Given the description of an element on the screen output the (x, y) to click on. 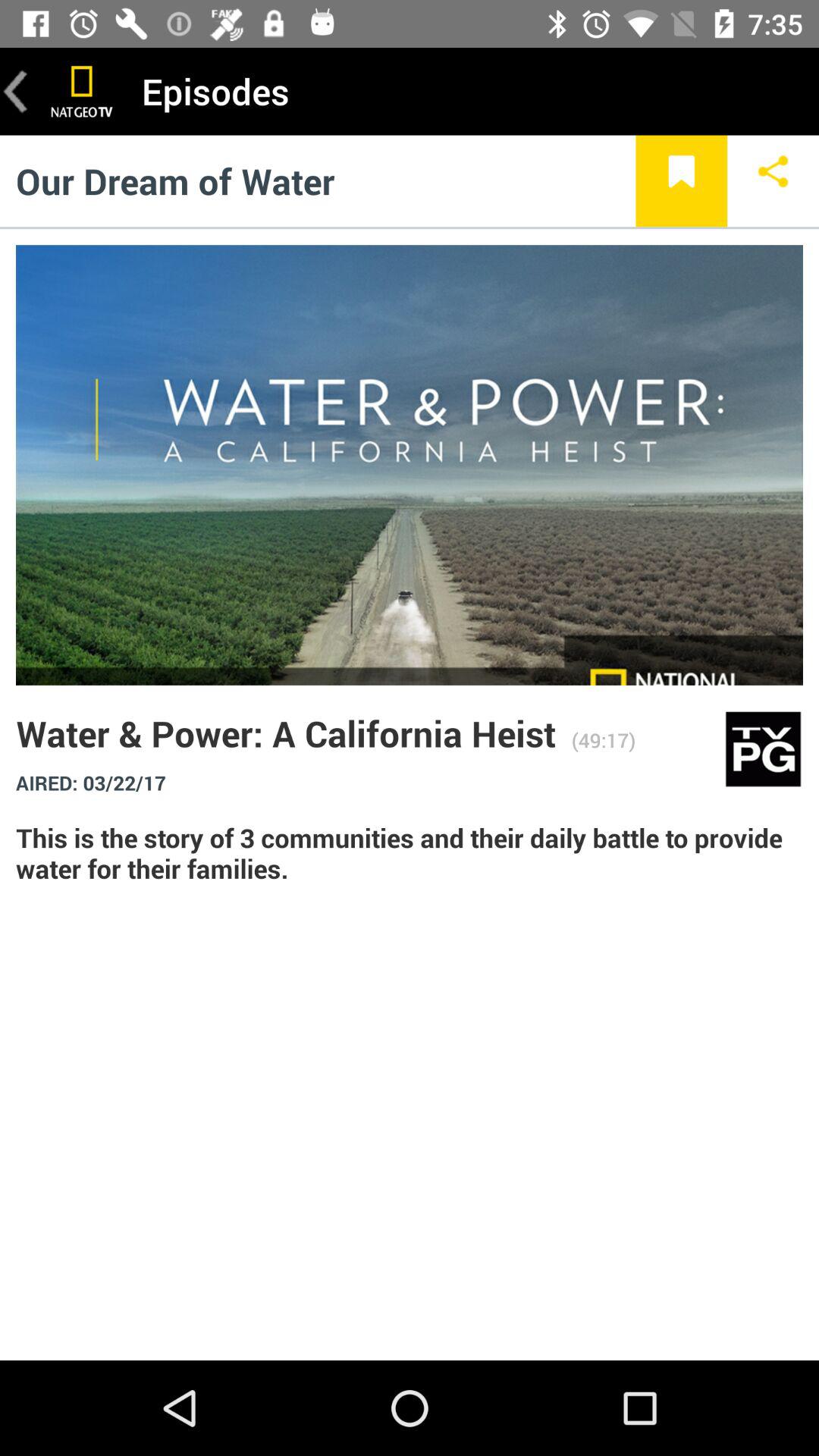
choose icon below the episodes (681, 180)
